Given the description of an element on the screen output the (x, y) to click on. 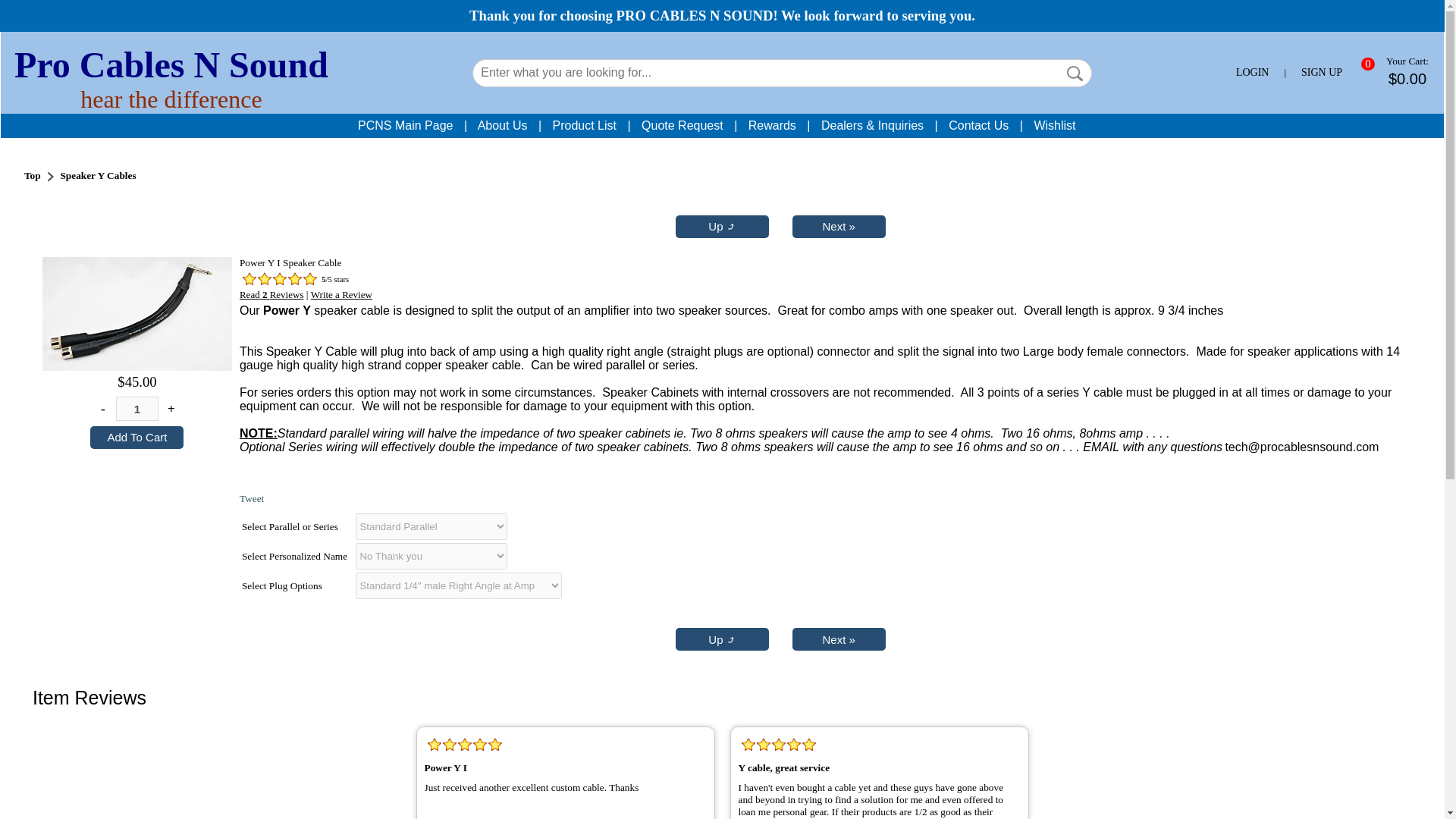
About Us (502, 124)
Quote Request (682, 124)
Tweet (251, 498)
SIGN UP (1321, 72)
Contact Us (979, 124)
Product List (583, 124)
1 (137, 408)
Write a Review (341, 294)
Add To Cart (136, 436)
Read 2 Reviews (272, 294)
